Given the description of an element on the screen output the (x, y) to click on. 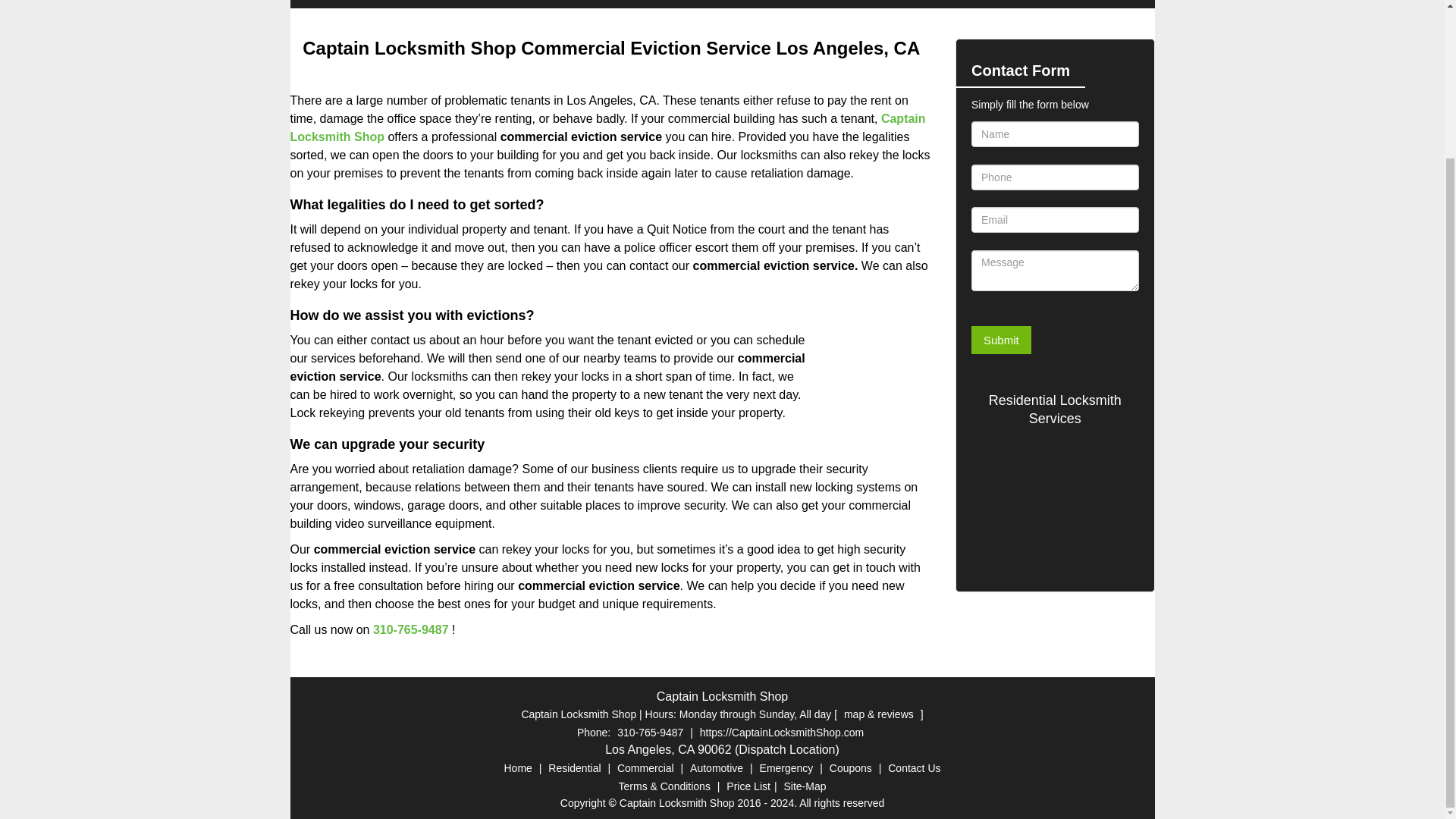
Submit (1000, 339)
Residential Locksmith Services (1054, 409)
Submit (1000, 339)
310-765-9487 (410, 629)
Phone Field required (1054, 177)
Message Field require (1054, 270)
Captain Locksmith Shop (606, 127)
Name Field required (1054, 134)
Residential (574, 767)
310-765-9487 (649, 732)
Email Field required (1054, 219)
Home (517, 767)
